Given the description of an element on the screen output the (x, y) to click on. 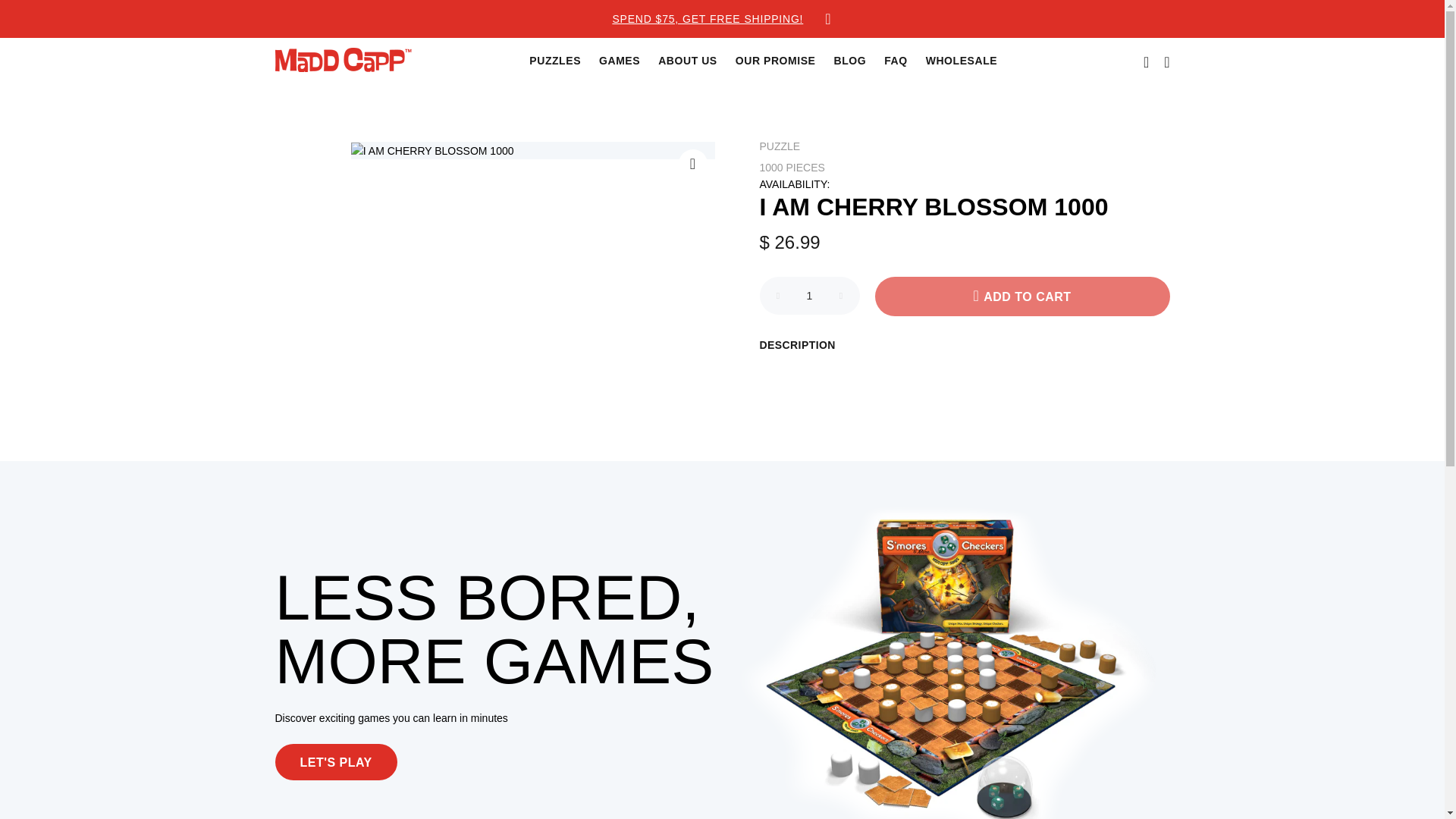
1 (810, 295)
WHOLESALE (957, 60)
FAQ (895, 60)
OUR PROMISE (775, 60)
BLOG (850, 60)
PUZZLES (554, 60)
ABOUT US (687, 60)
GAMES (619, 60)
